Given the description of an element on the screen output the (x, y) to click on. 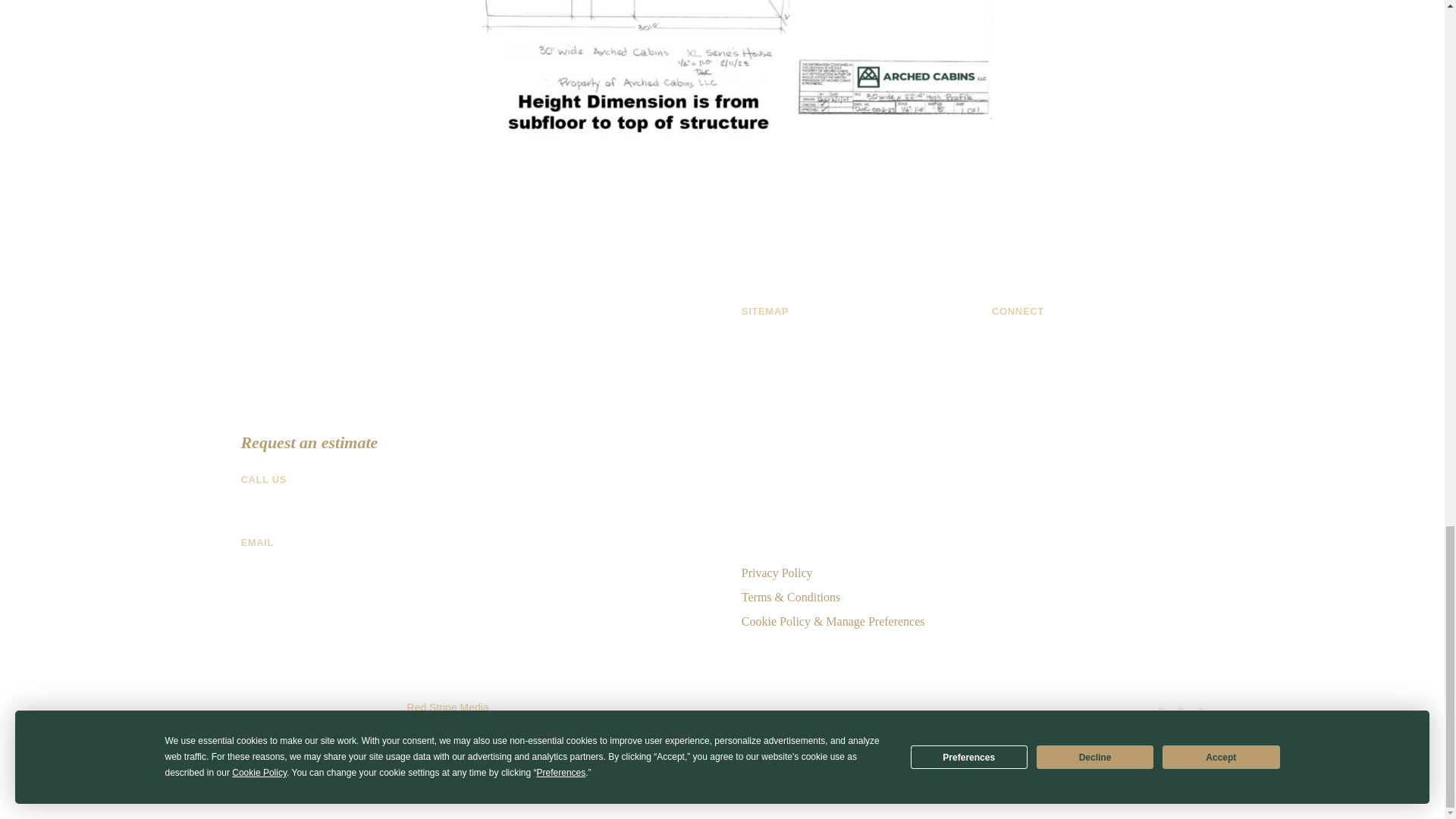
INSTAGRAM (1026, 378)
COMMUNITY (778, 523)
CONTACT (769, 548)
ABOUT (762, 451)
BLOG (757, 475)
HOW IT WORKS (786, 402)
FACEBOOK (1024, 354)
Request an estimate (308, 442)
HOME (759, 354)
Privacy Policy (776, 572)
